Given the description of an element on the screen output the (x, y) to click on. 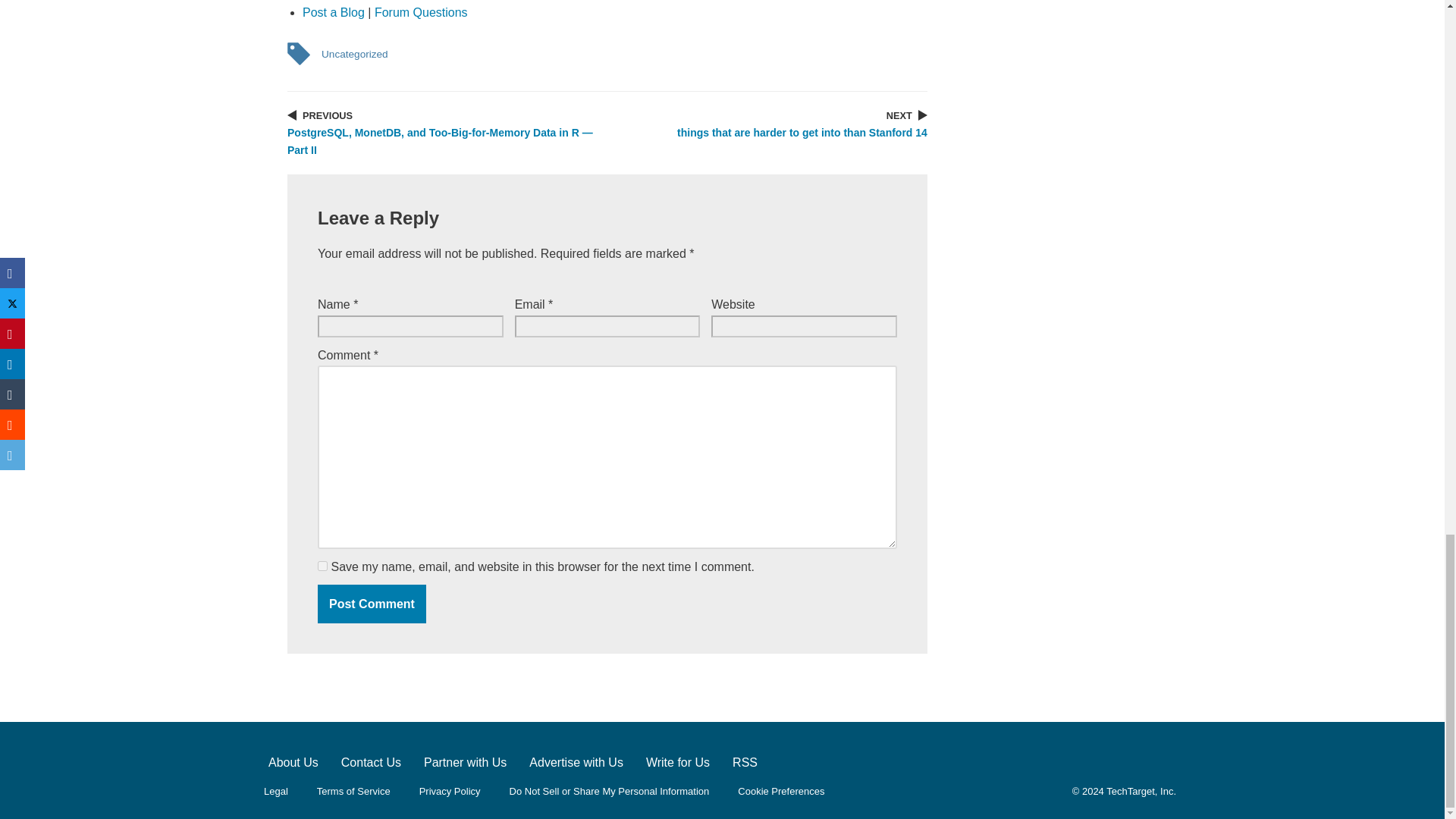
yes (322, 565)
Uncategorized (354, 54)
Post Comment (371, 604)
